Given the description of an element on the screen output the (x, y) to click on. 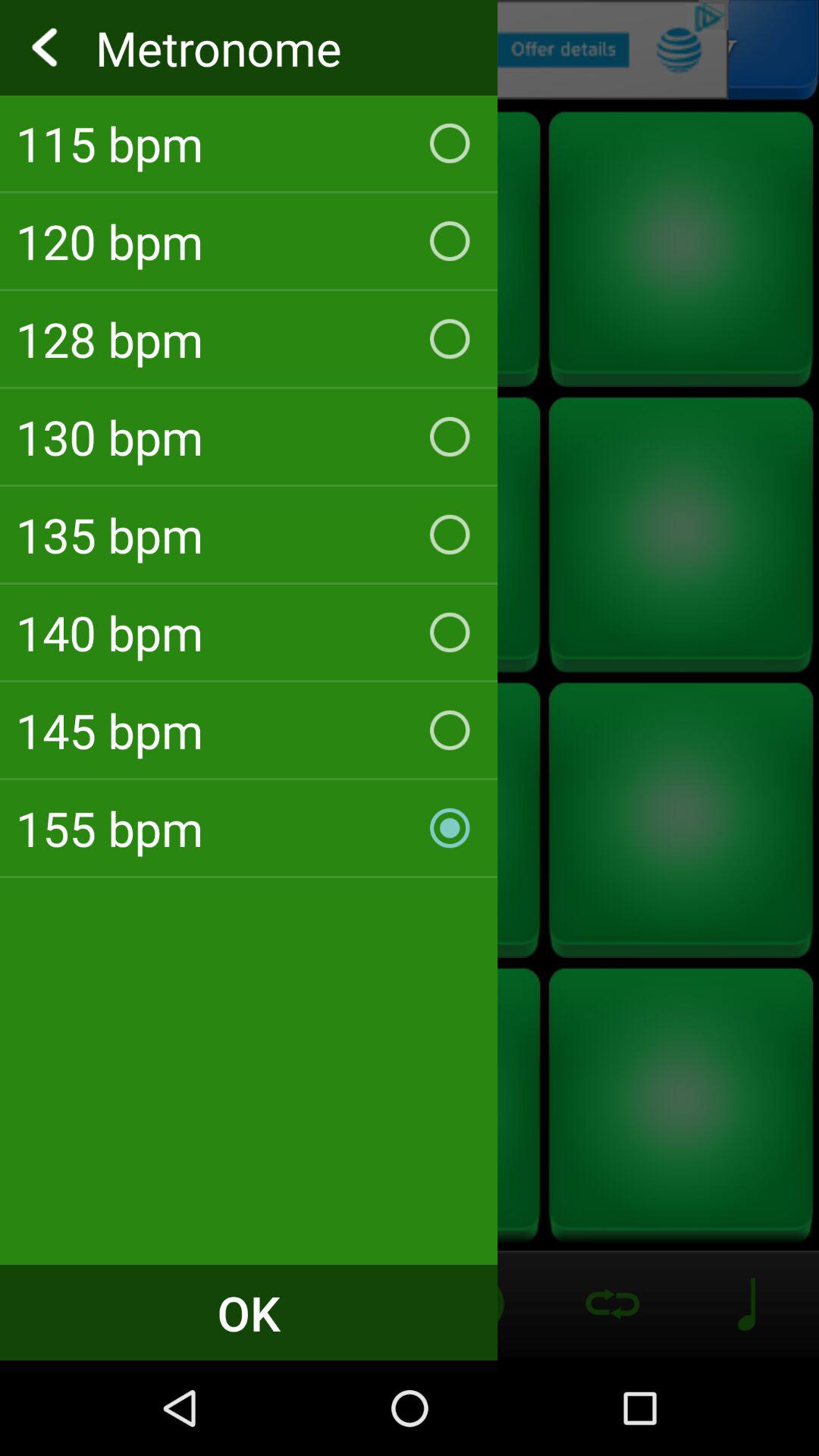
go back (409, 49)
